Given the description of an element on the screen output the (x, y) to click on. 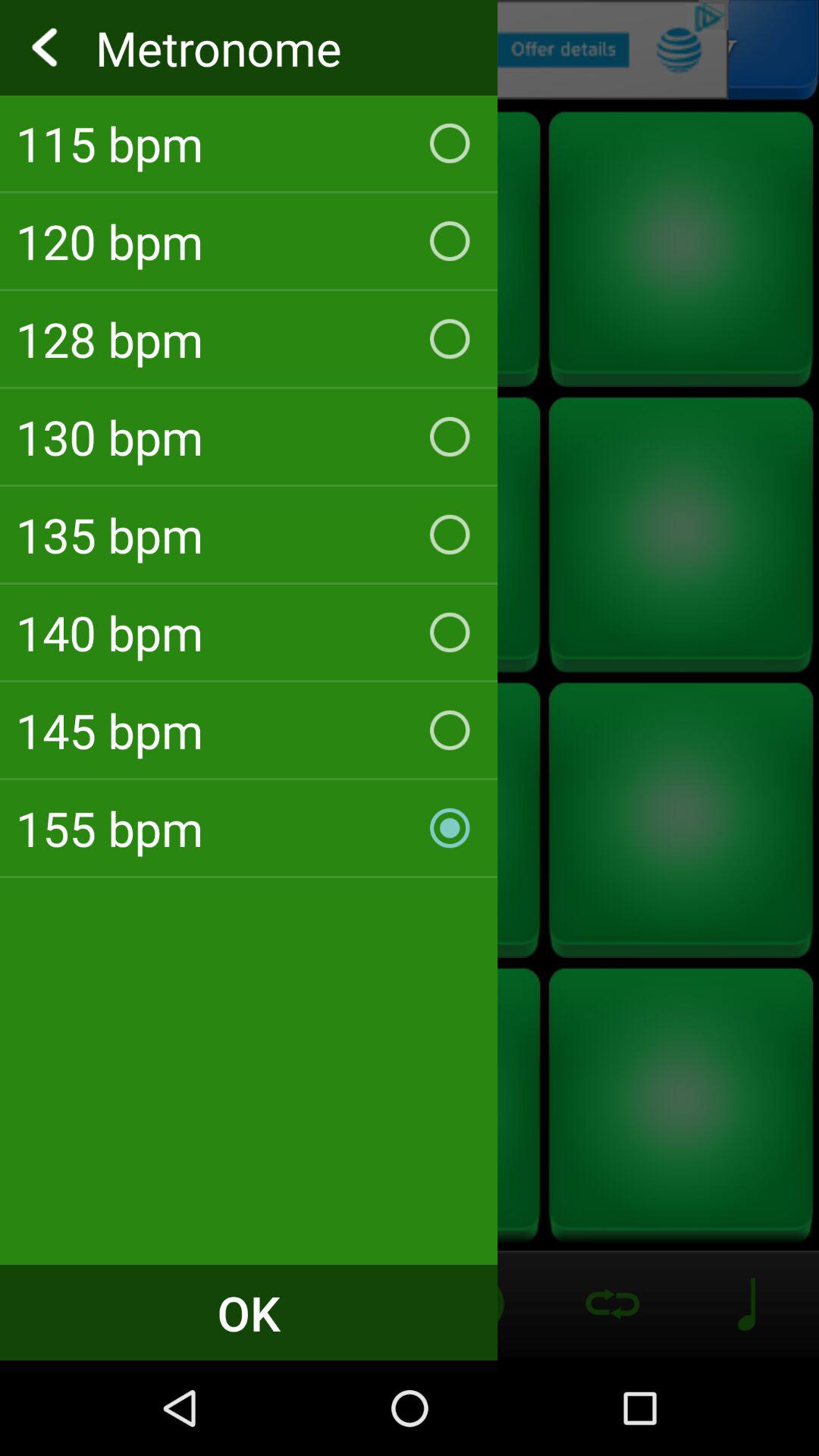
go back (409, 49)
